Given the description of an element on the screen output the (x, y) to click on. 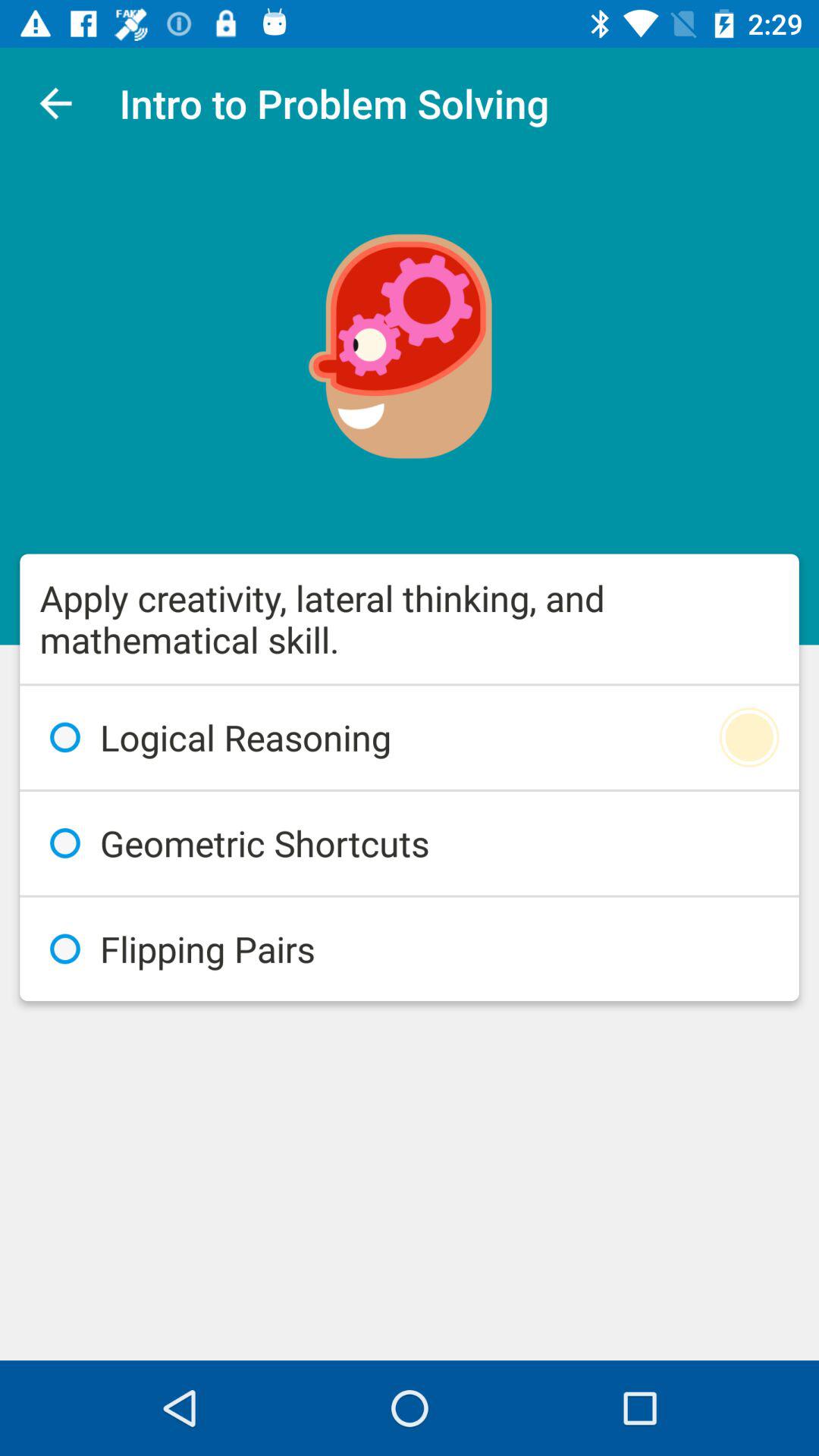
choose the icon below geometric shortcuts item (409, 949)
